Given the description of an element on the screen output the (x, y) to click on. 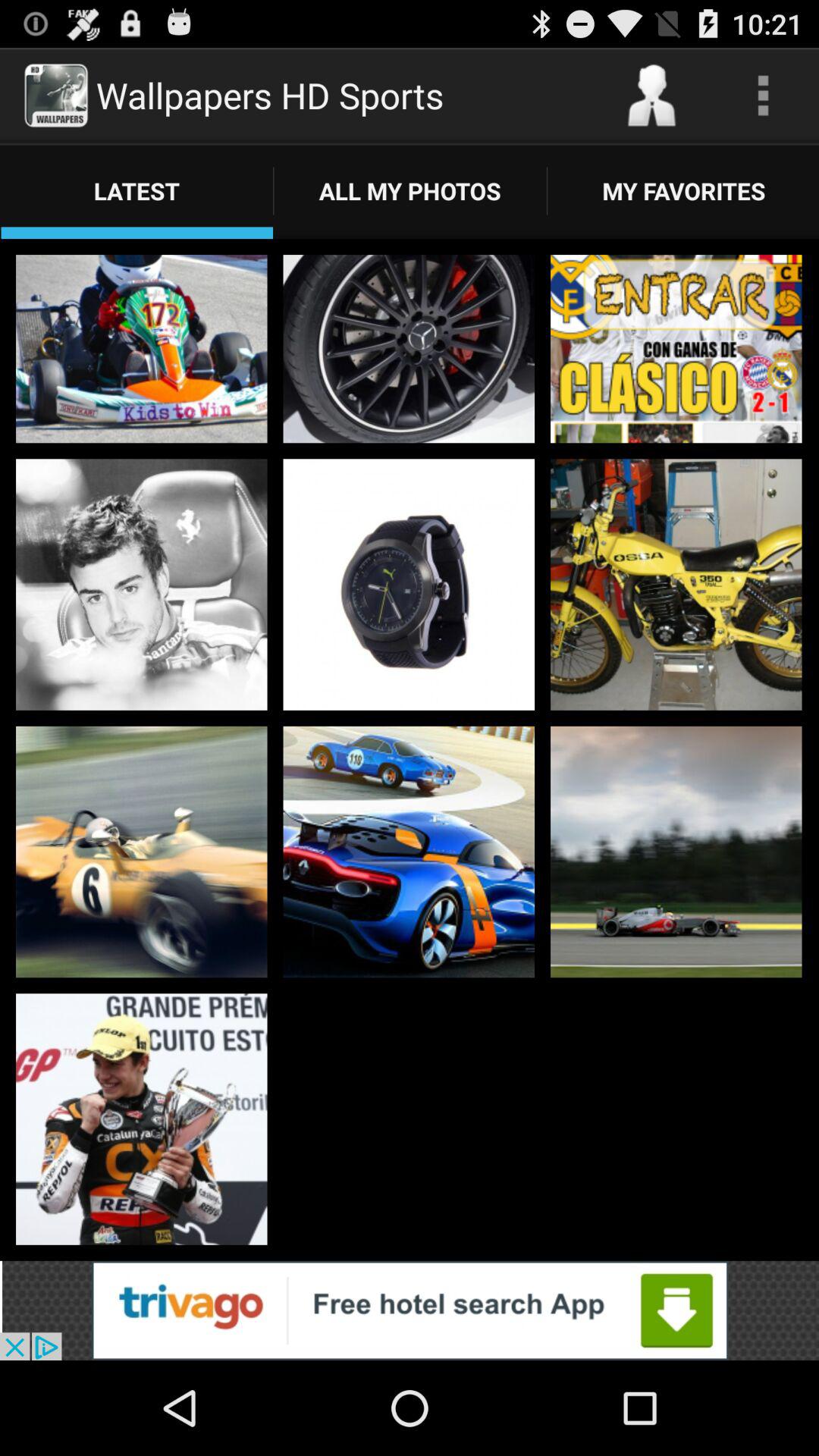
choose advertisement (409, 1310)
